Given the description of an element on the screen output the (x, y) to click on. 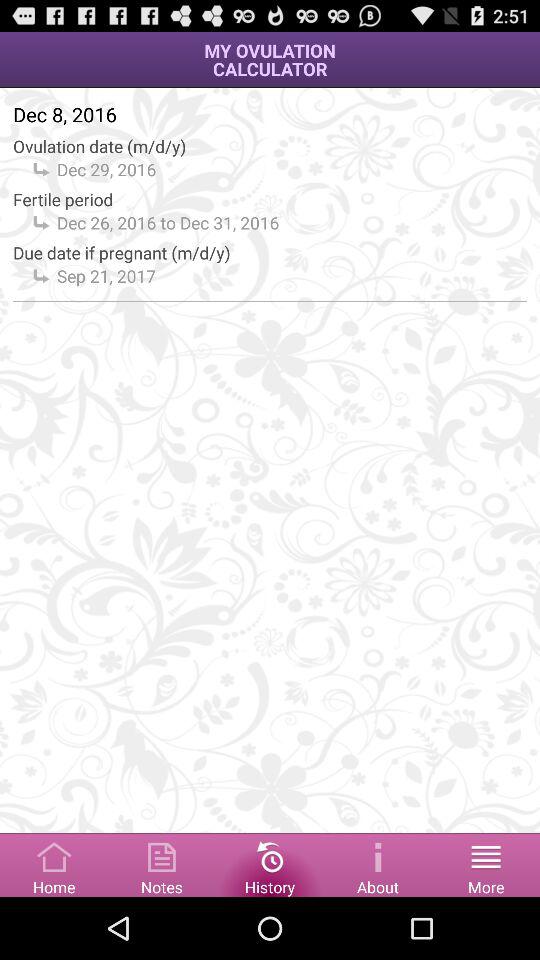
show history (270, 864)
